Given the description of an element on the screen output the (x, y) to click on. 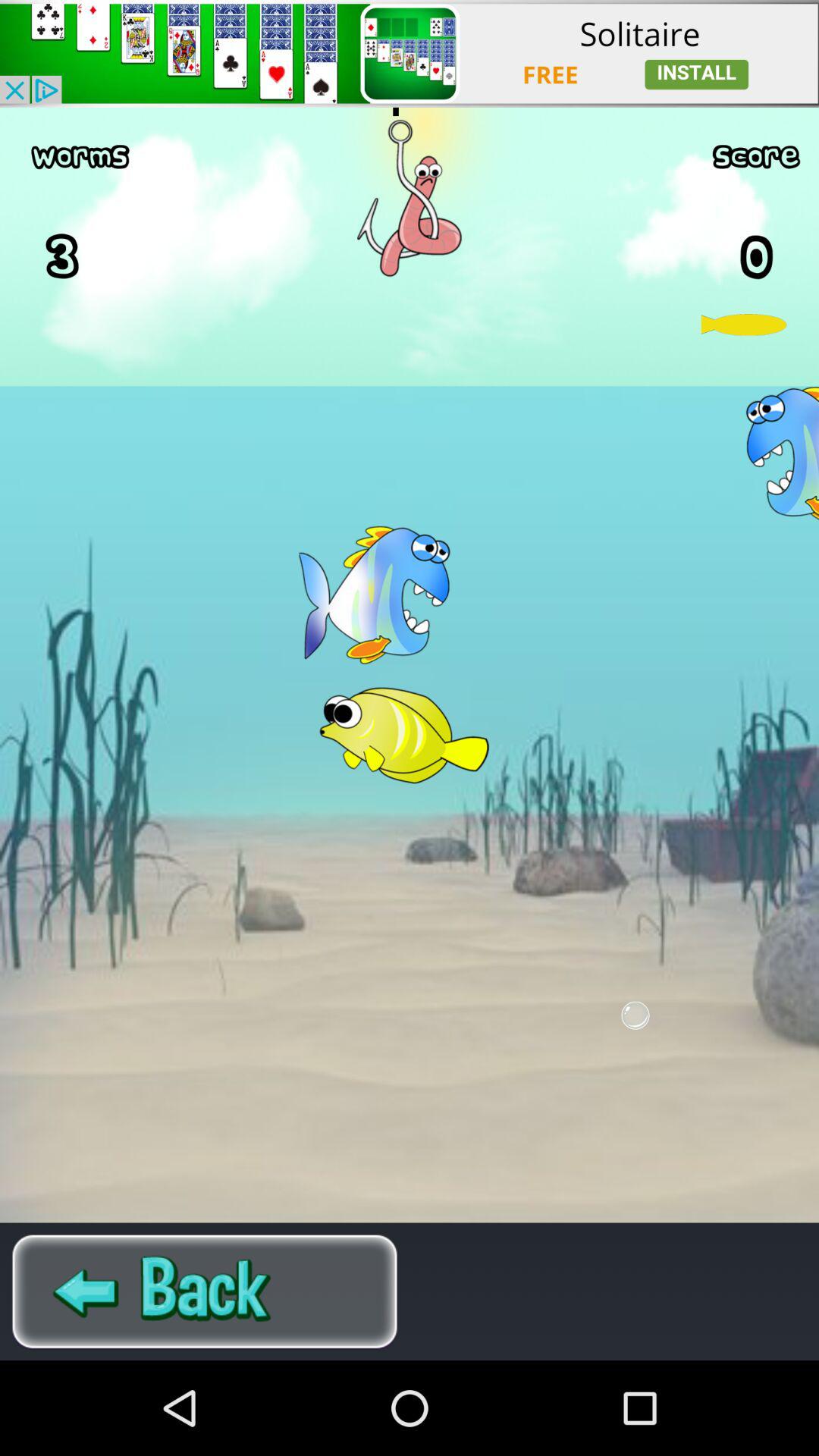
previous page (204, 1291)
